Given the description of an element on the screen output the (x, y) to click on. 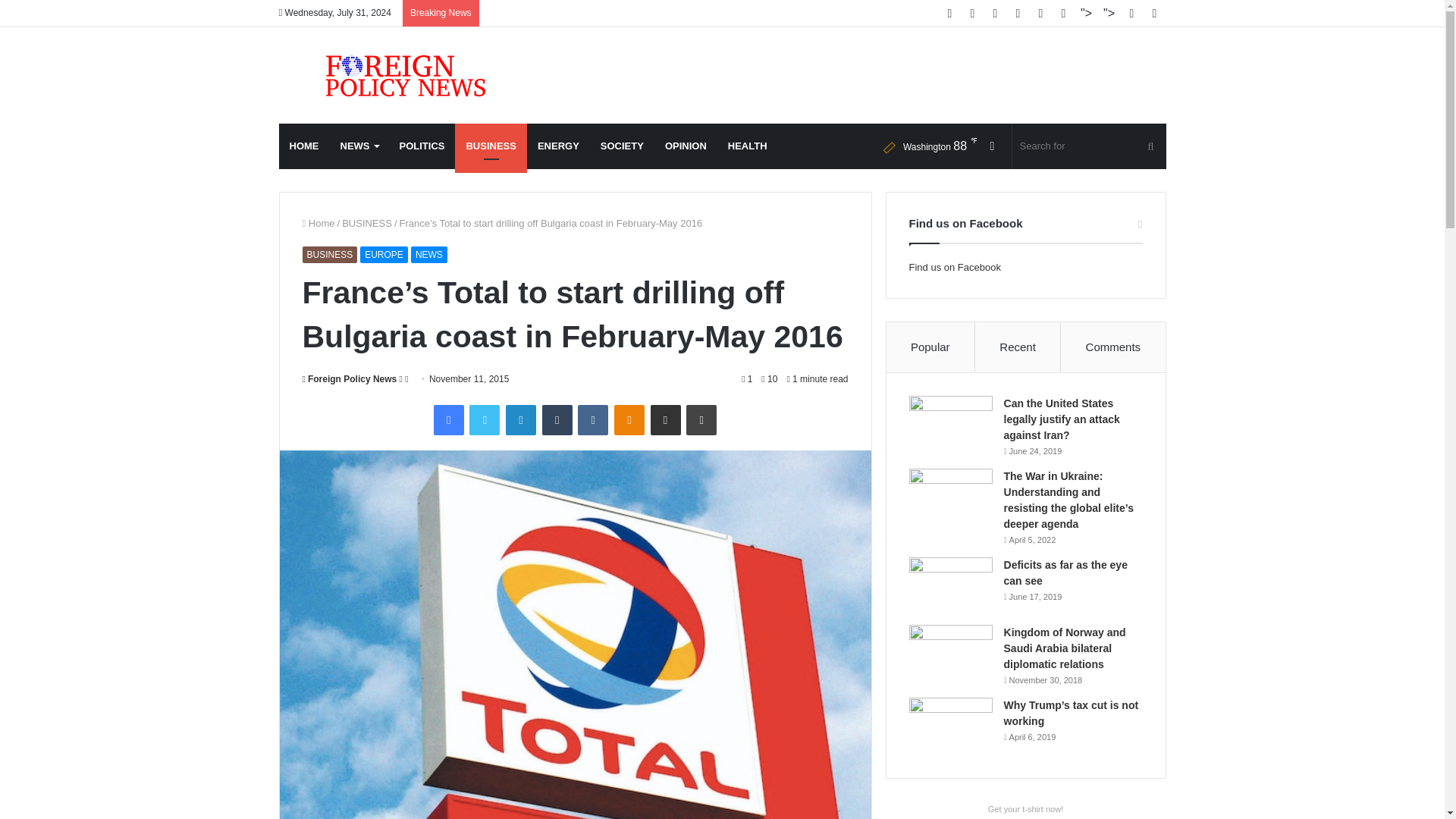
Search for (1088, 145)
Twitter (483, 419)
Odnoklassniki (629, 419)
POLITICS (421, 145)
HEALTH (747, 145)
LinkedIn (520, 419)
VKontakte (593, 419)
BUSINESS (489, 145)
Tumblr (556, 419)
NEWS (358, 145)
OPINION (685, 145)
Facebook (448, 419)
ENERGY (558, 145)
Clear Sky (926, 145)
Foreign Policy News (348, 378)
